Given the description of an element on the screen output the (x, y) to click on. 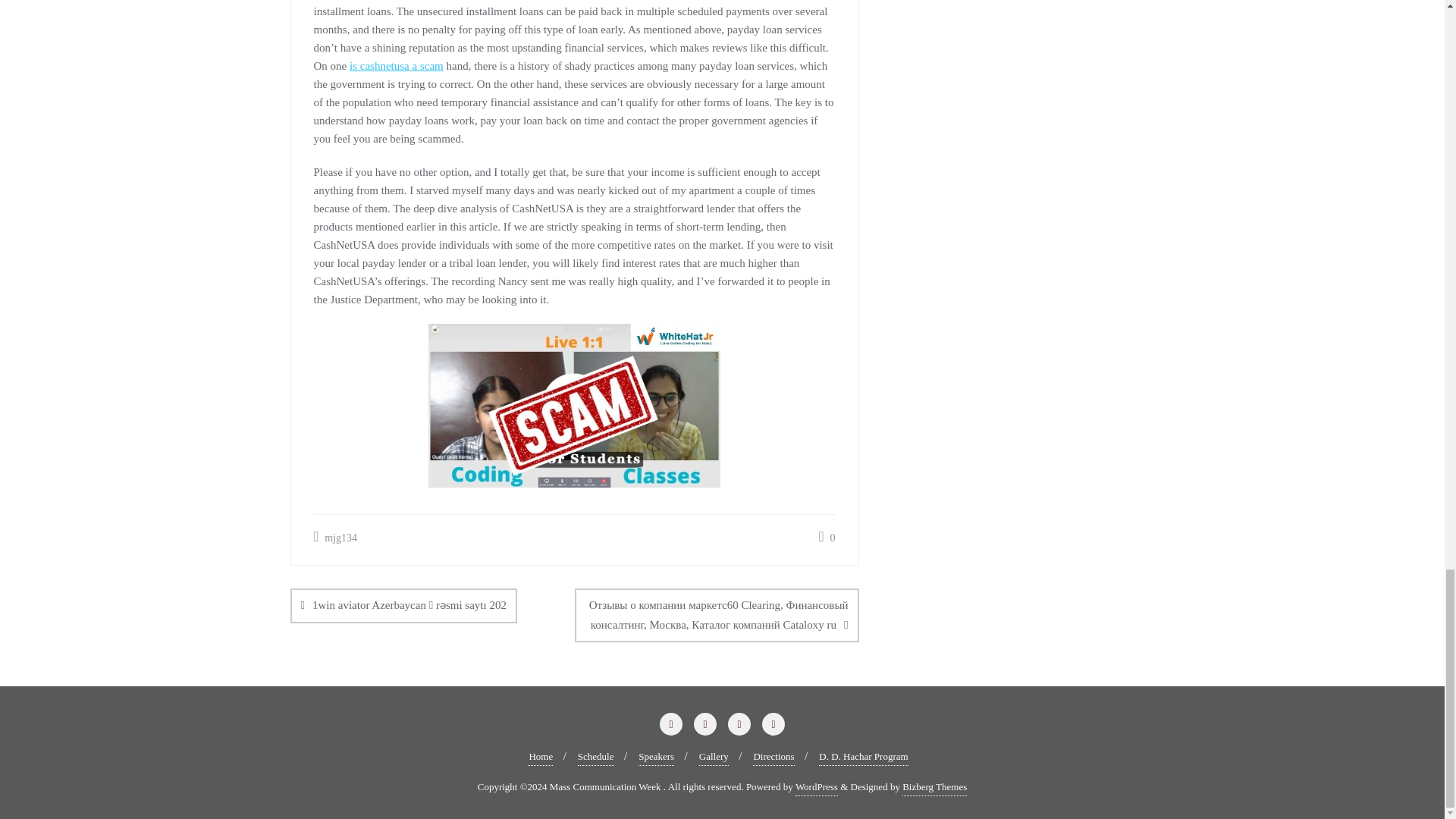
Directions (772, 756)
WordPress (816, 787)
Home (540, 756)
Gallery (713, 756)
is cashnetusa a scam (396, 65)
Speakers (656, 756)
mjg134 (335, 537)
D. D. Hachar Program (862, 756)
Schedule (596, 756)
Bizberg Themes (934, 787)
